Given the description of an element on the screen output the (x, y) to click on. 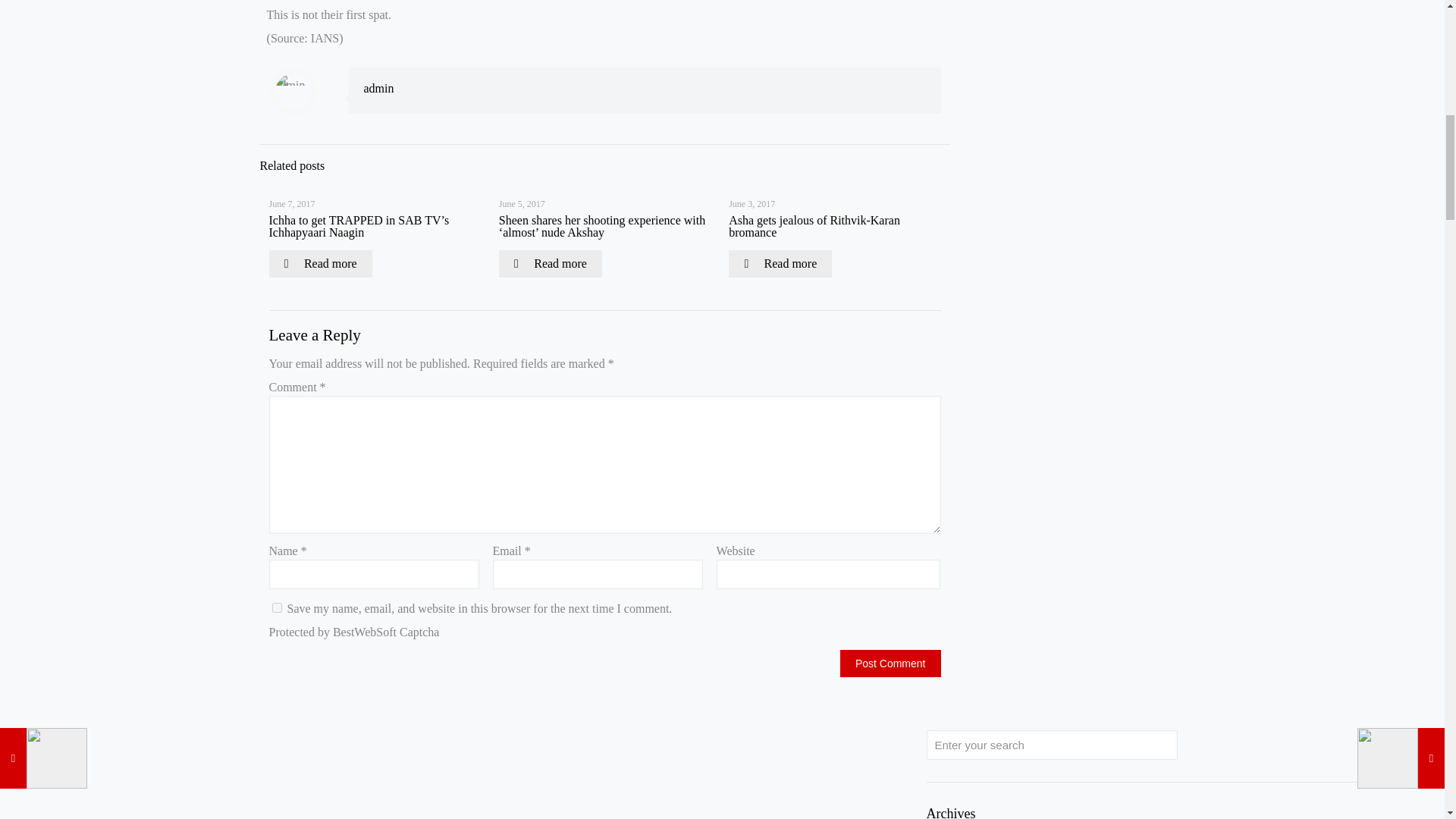
yes (275, 607)
Post Comment (890, 663)
admin (379, 88)
